Given the description of an element on the screen output the (x, y) to click on. 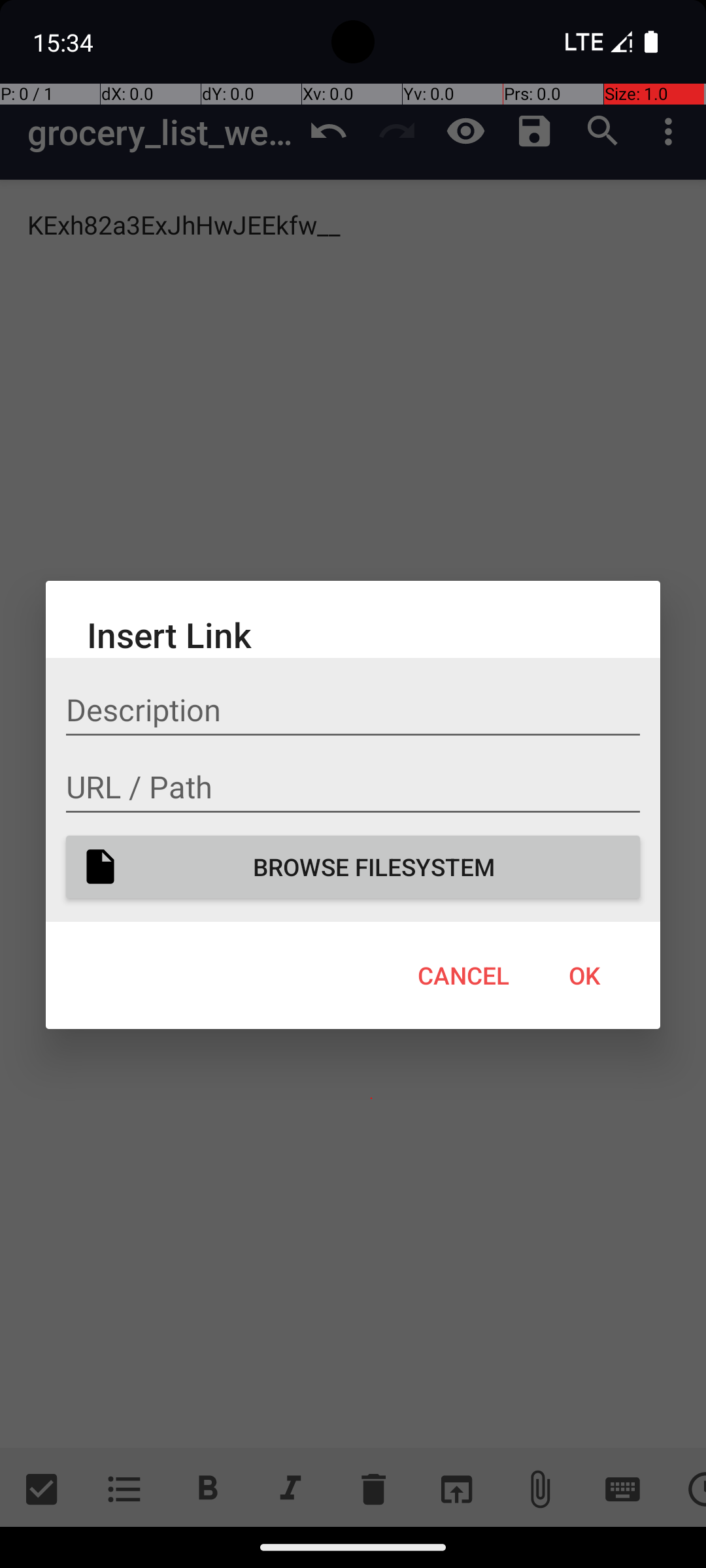
Insert Link Element type: android.widget.TextView (352, 634)
Description Element type: android.widget.EditText (352, 709)
URL / Path Element type: android.widget.EditText (352, 786)
BROWSE FILESYSTEM Element type: android.widget.Button (352, 866)
